Given the description of an element on the screen output the (x, y) to click on. 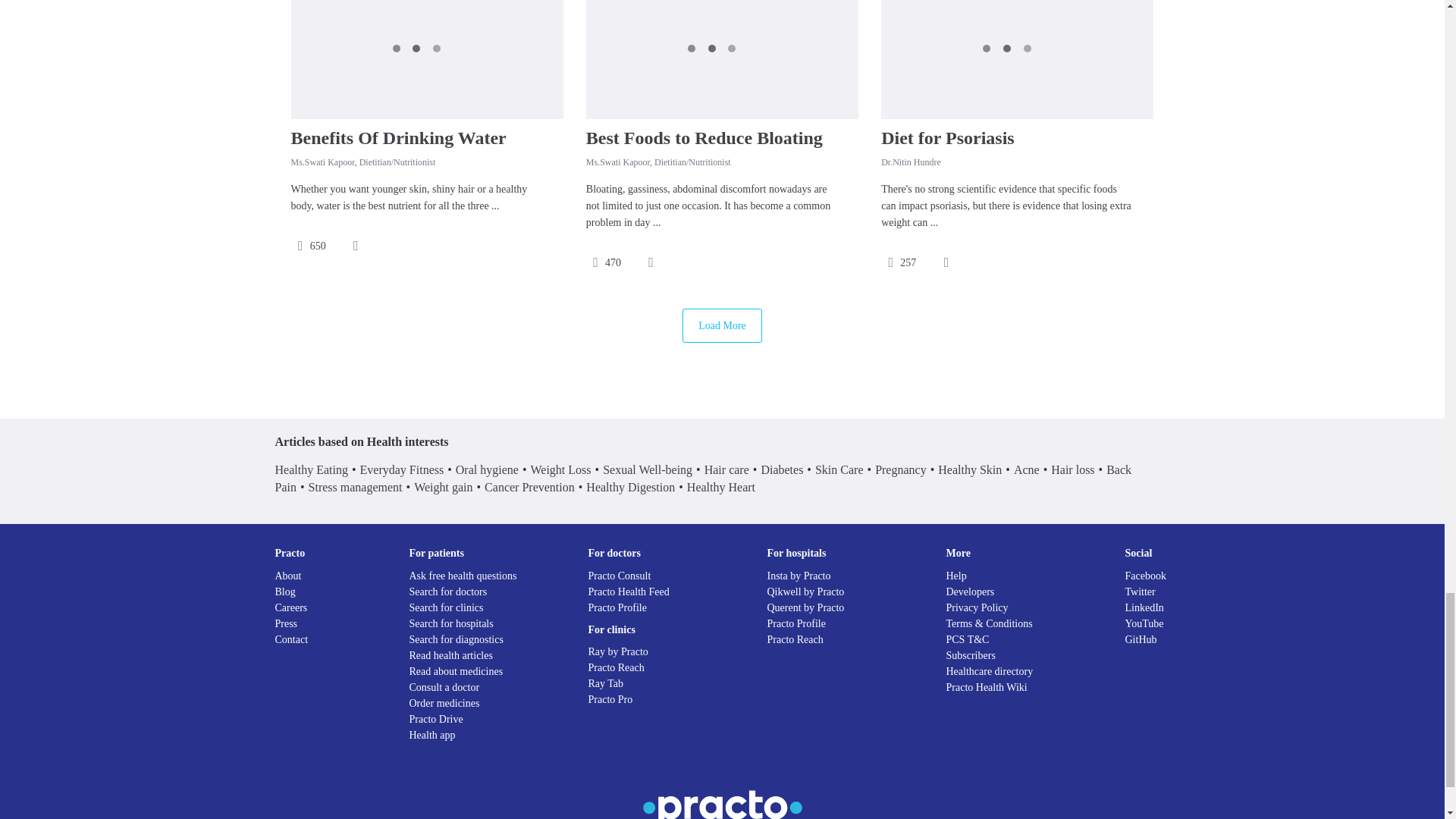
Ask free health questions (462, 575)
Careers (291, 607)
Search for diagnostics (456, 639)
Contact (291, 639)
Search for doctors (448, 591)
Blog (285, 591)
Read Health Articles (451, 655)
Practo Drive (436, 718)
Order medicines (444, 703)
Search for clinics (446, 607)
